Given the description of an element on the screen output the (x, y) to click on. 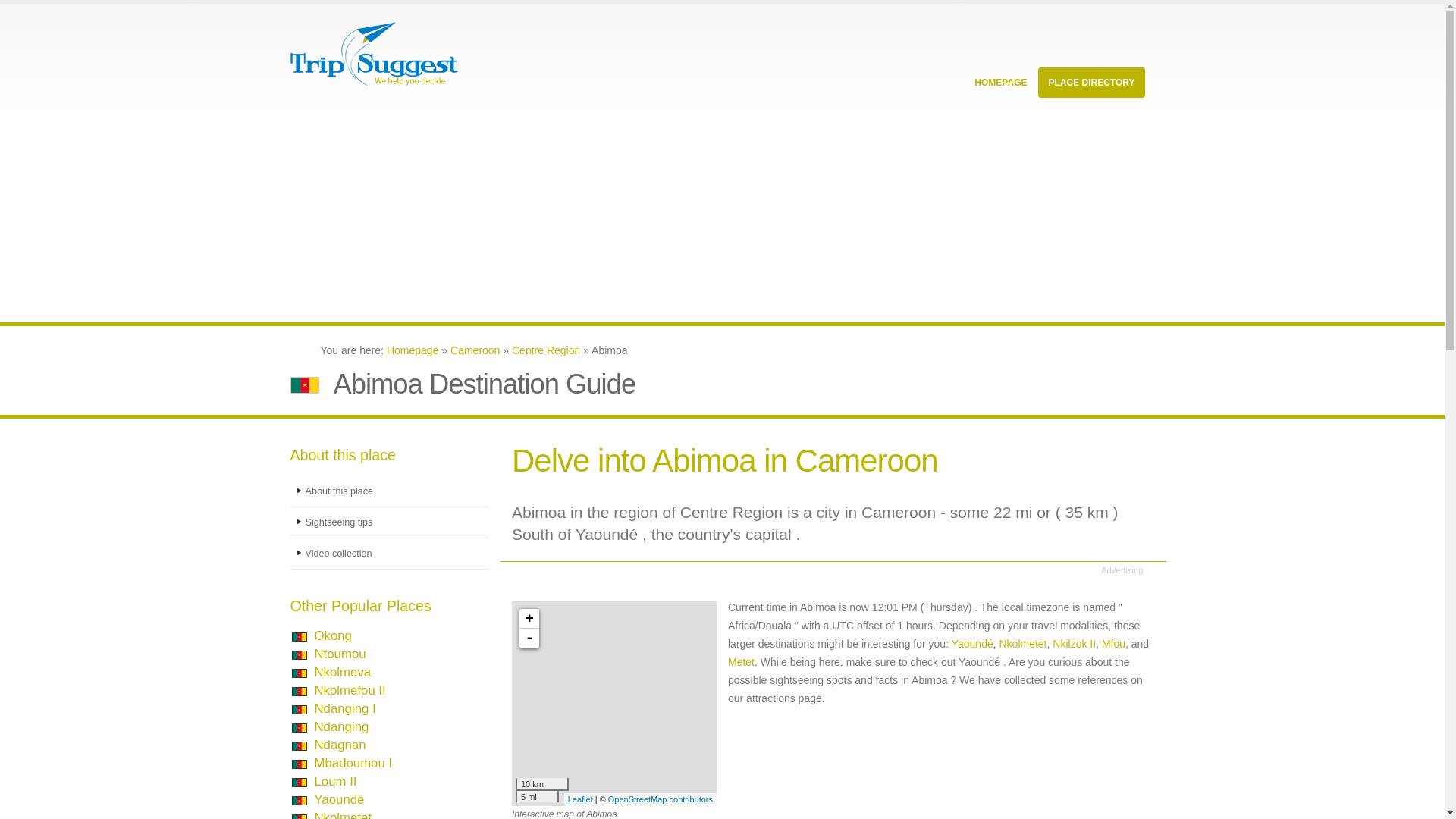
Cameroon (474, 349)
Homepage (413, 349)
Mbadoumou I (352, 762)
Video collection (389, 553)
Nkolmeva (342, 672)
Ntoumou (339, 653)
PLACE DIRECTORY (1091, 82)
Sightseeing tips (389, 522)
Ndanging I (344, 708)
Loum II (335, 780)
